Given the description of an element on the screen output the (x, y) to click on. 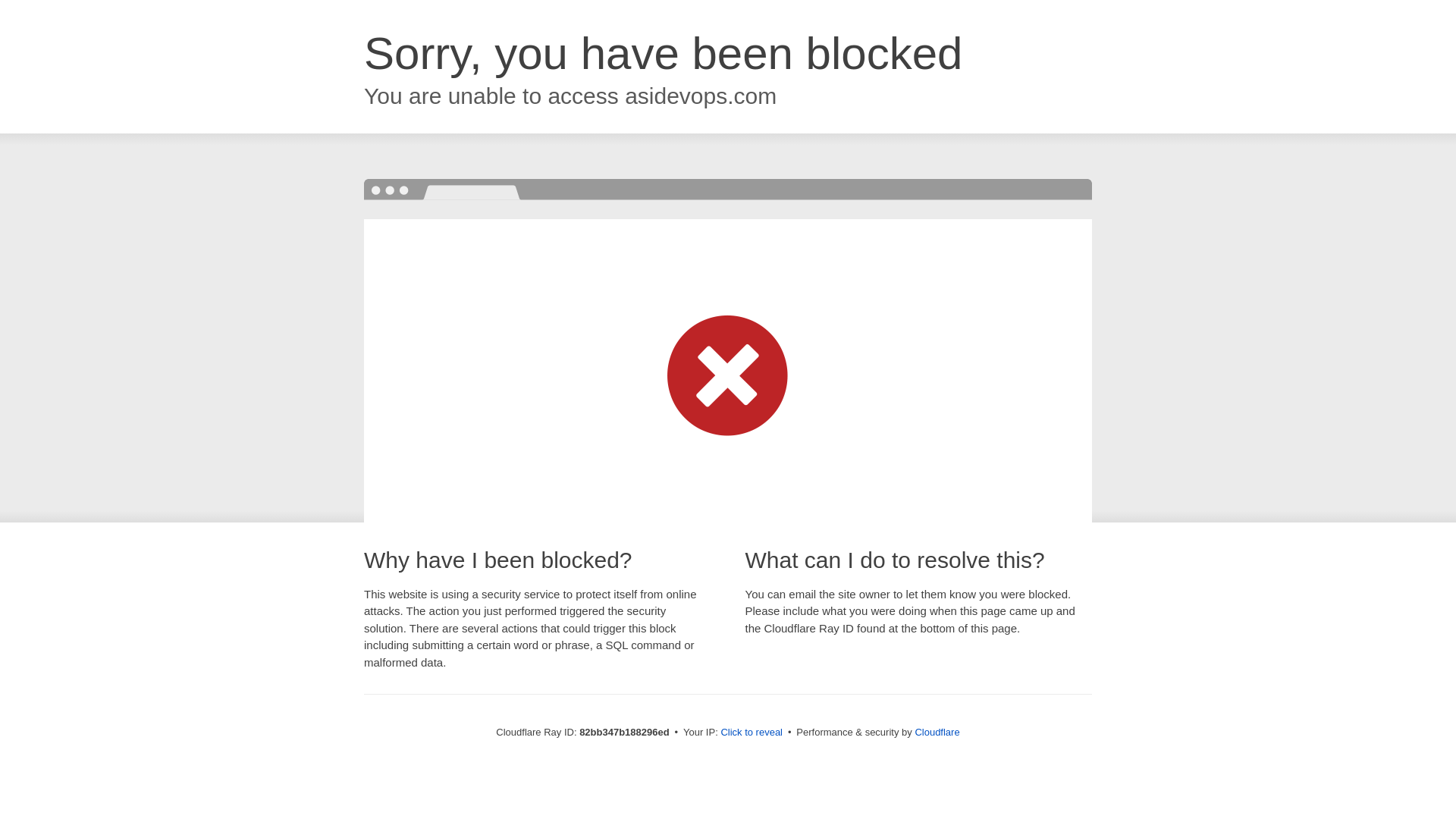
Cloudflare Element type: text (936, 731)
Click to reveal Element type: text (751, 732)
